Given the description of an element on the screen output the (x, y) to click on. 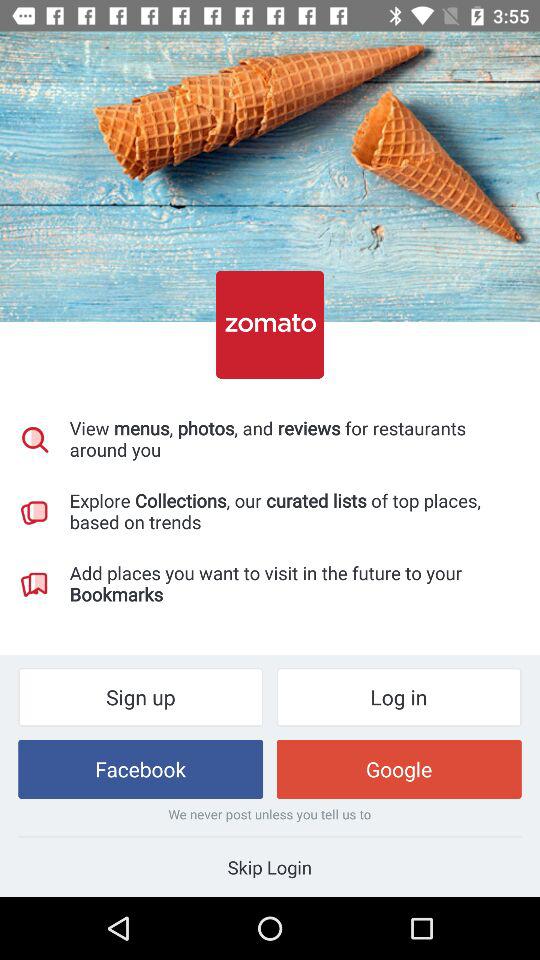
tap the item below add places you item (140, 696)
